Given the description of an element on the screen output the (x, y) to click on. 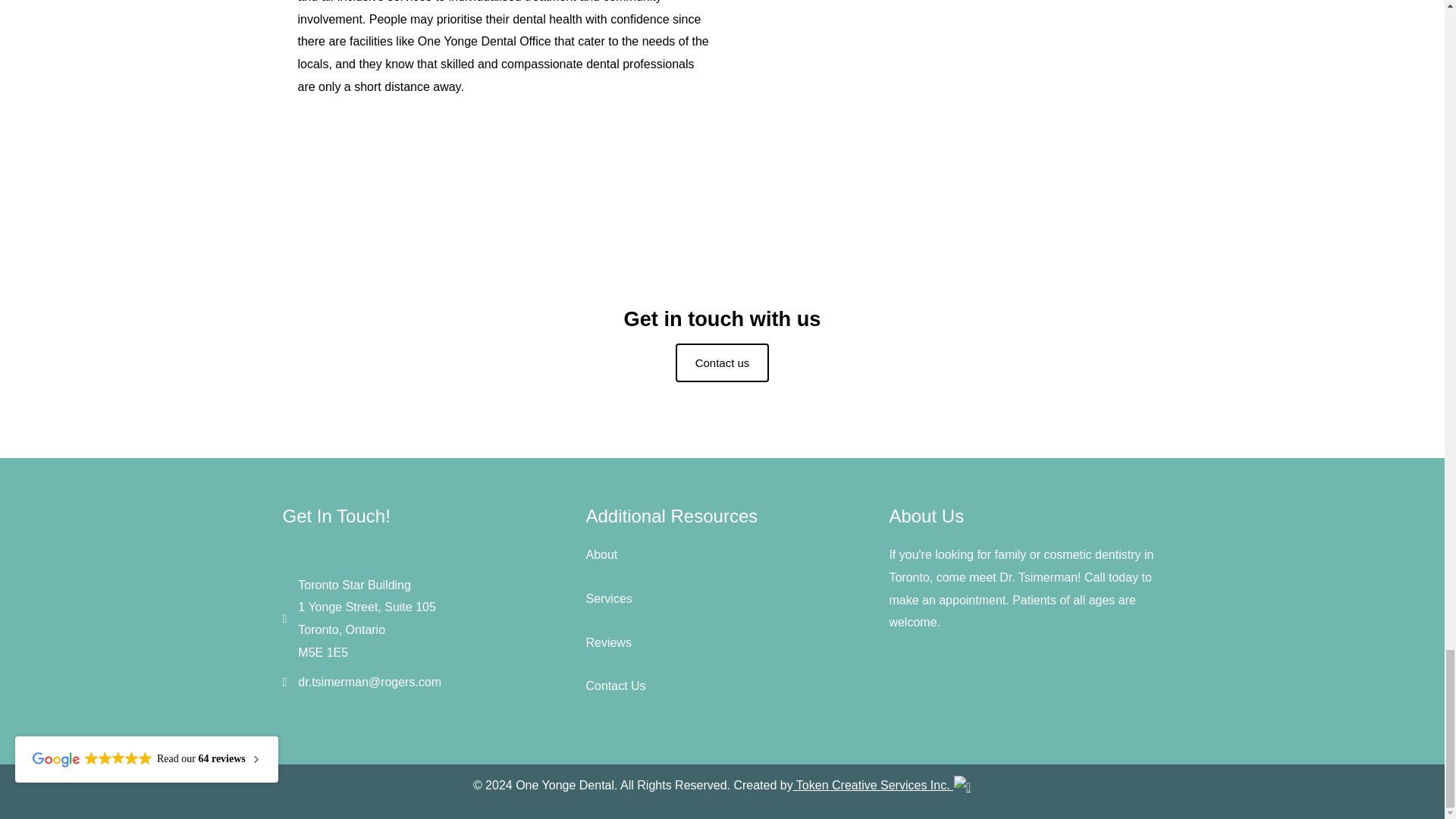
Contact Us (615, 685)
Token Creative Services Inc. (883, 784)
Services (608, 598)
Reviews (607, 641)
Contact us (722, 362)
About (601, 554)
